Given the description of an element on the screen output the (x, y) to click on. 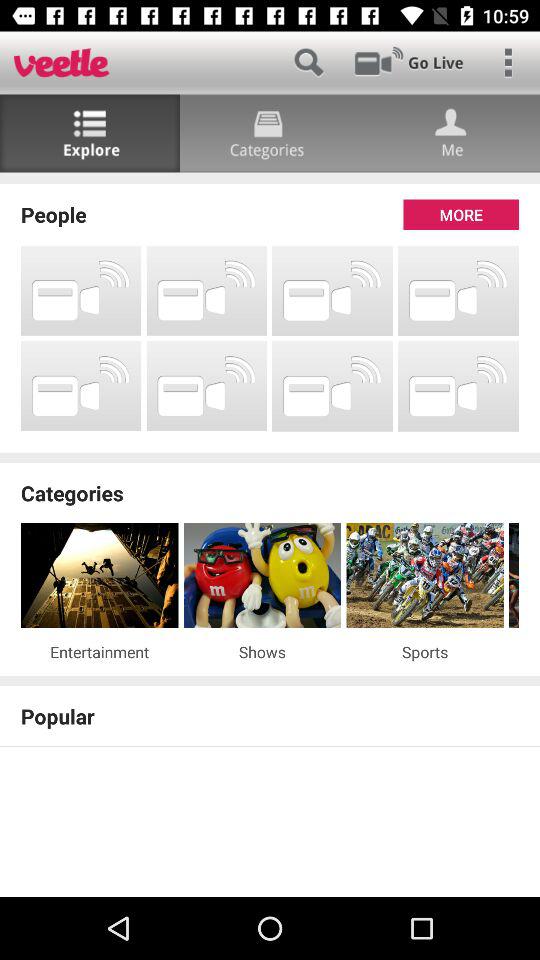
search (308, 62)
